Given the description of an element on the screen output the (x, y) to click on. 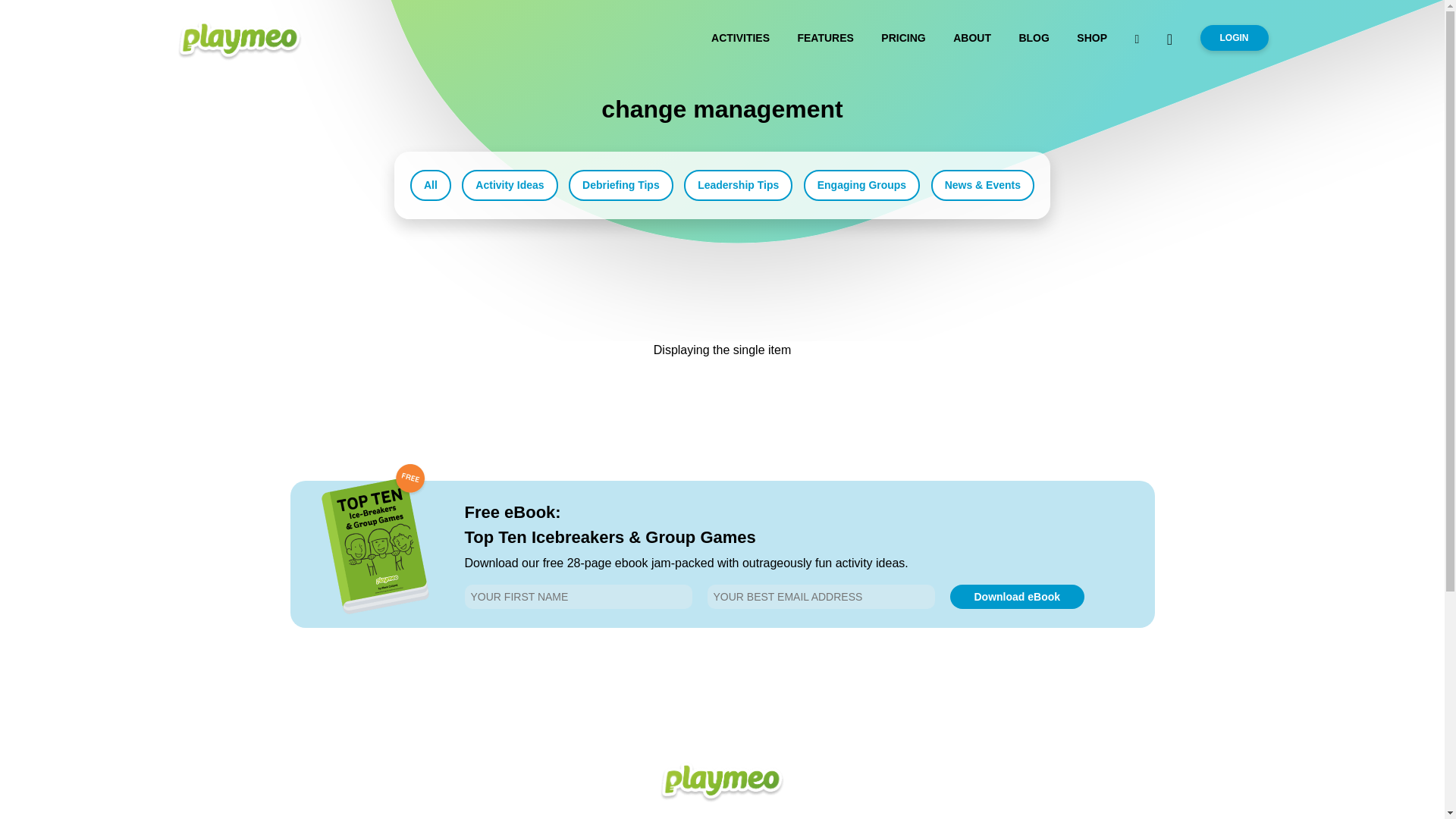
ACTIVITIES (740, 37)
Download eBook (1016, 596)
